Given the description of an element on the screen output the (x, y) to click on. 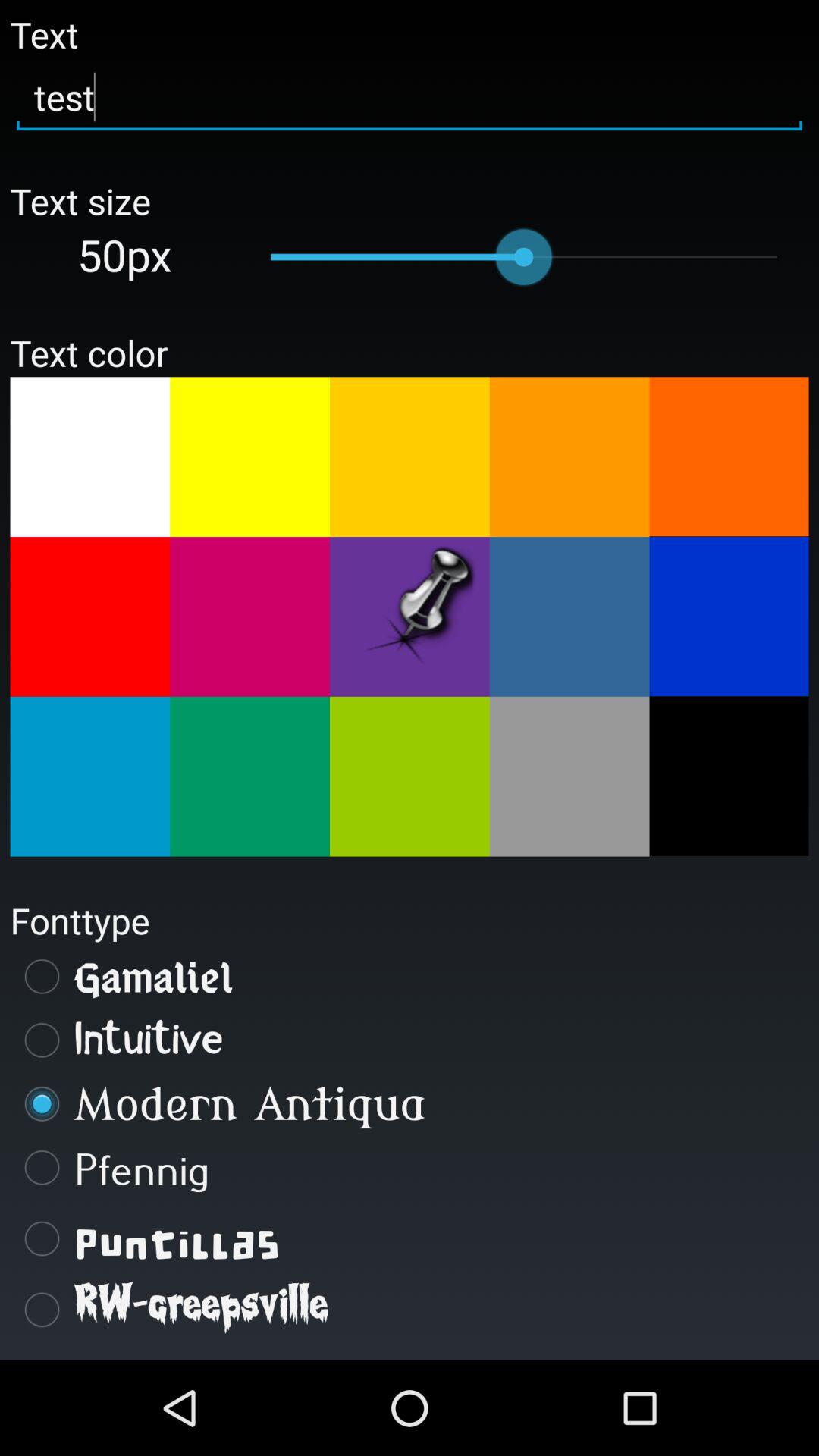
talvez seja somente um problema (728, 775)
